Given the description of an element on the screen output the (x, y) to click on. 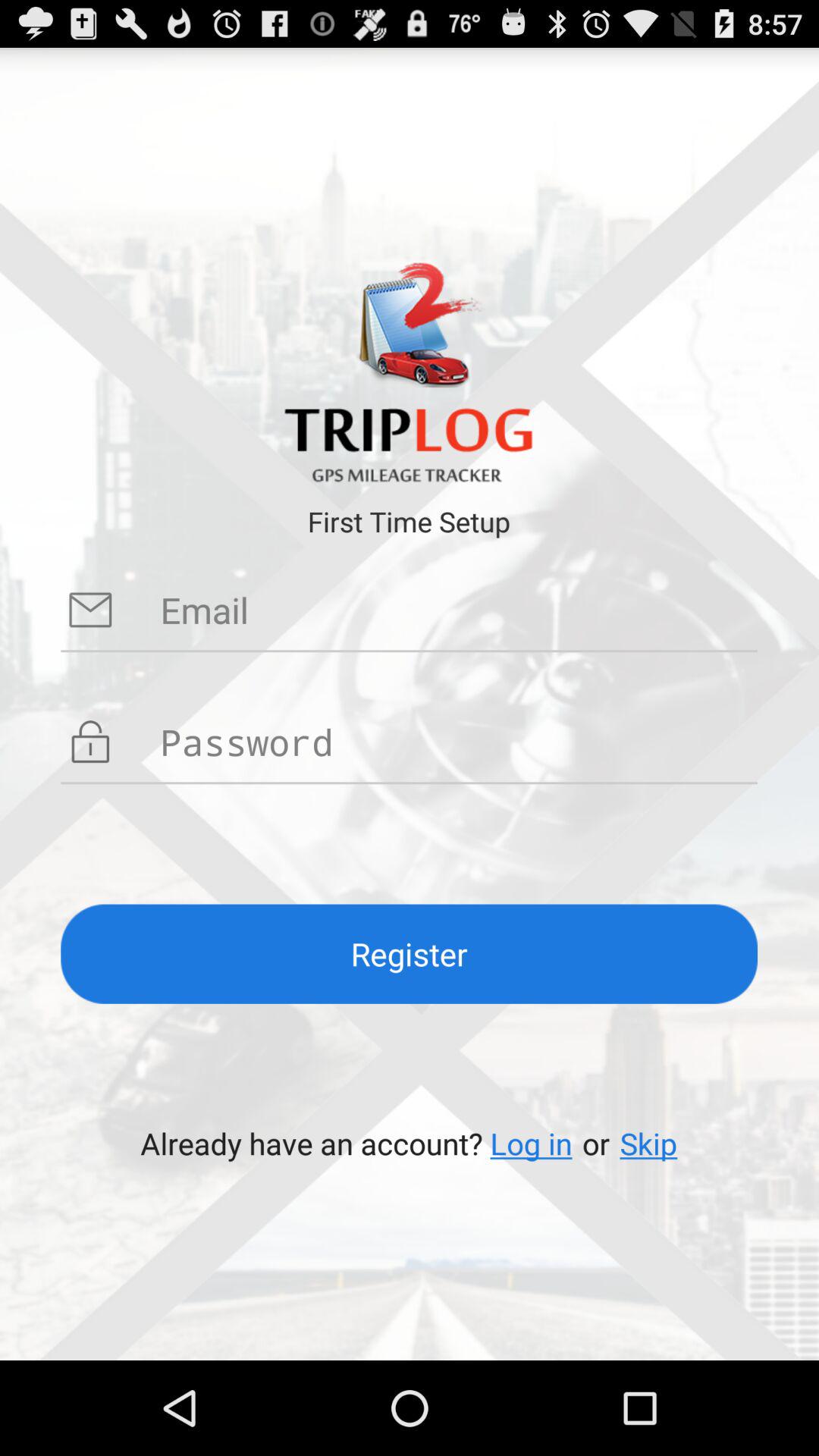
tap skip app (648, 1143)
